Given the description of an element on the screen output the (x, y) to click on. 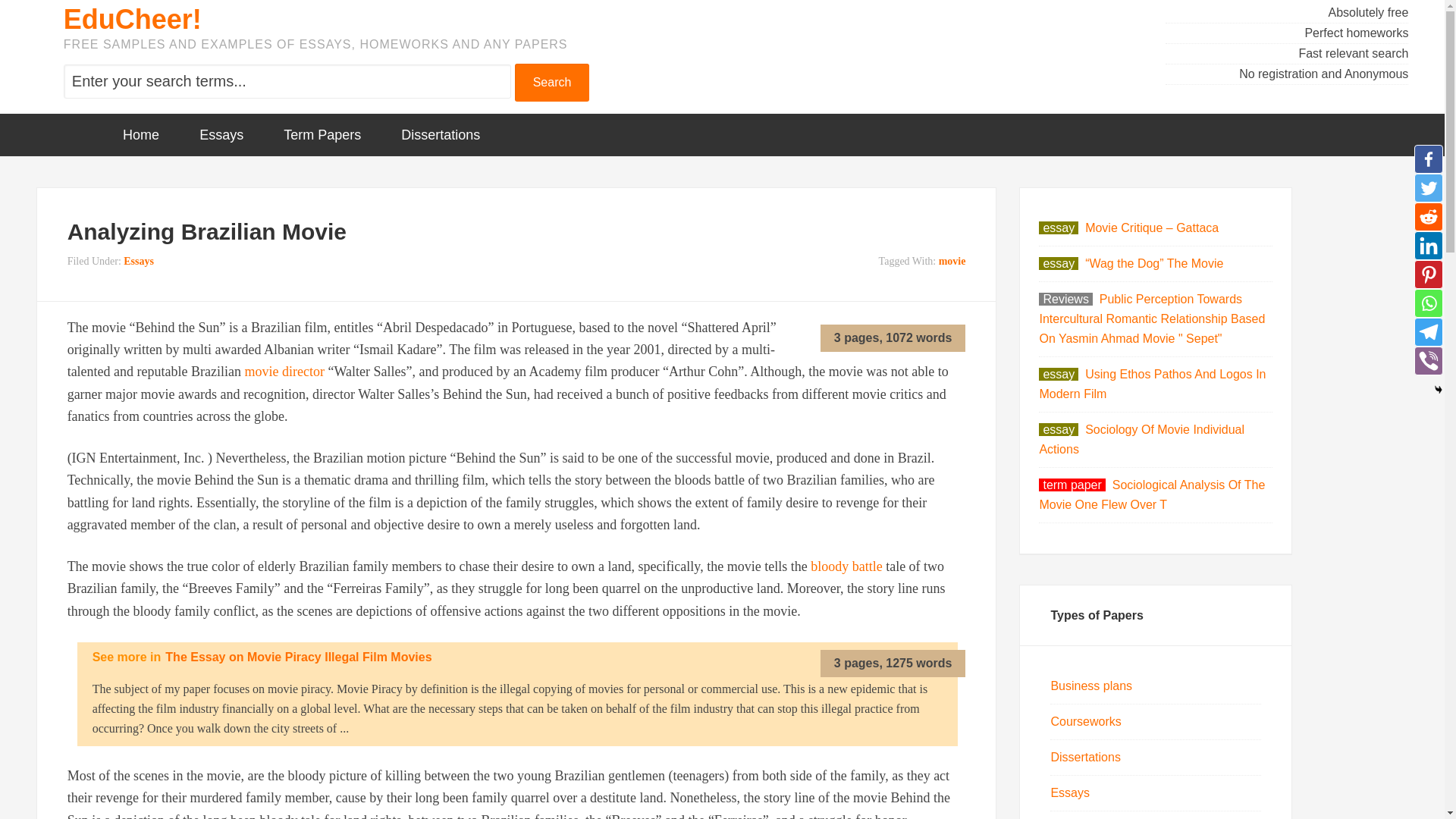
Enter your search terms... (287, 81)
Dissertations (439, 134)
Twitter (1427, 187)
The Term Paper on King Philips War (846, 566)
essay  Using Ethos Pathos And Logos In Modern Film (1152, 383)
Search (552, 82)
Reddit (1427, 216)
movie (952, 260)
The Essay on Male Directors Movie Women Movies (284, 371)
Facebook (1427, 158)
